Given the description of an element on the screen output the (x, y) to click on. 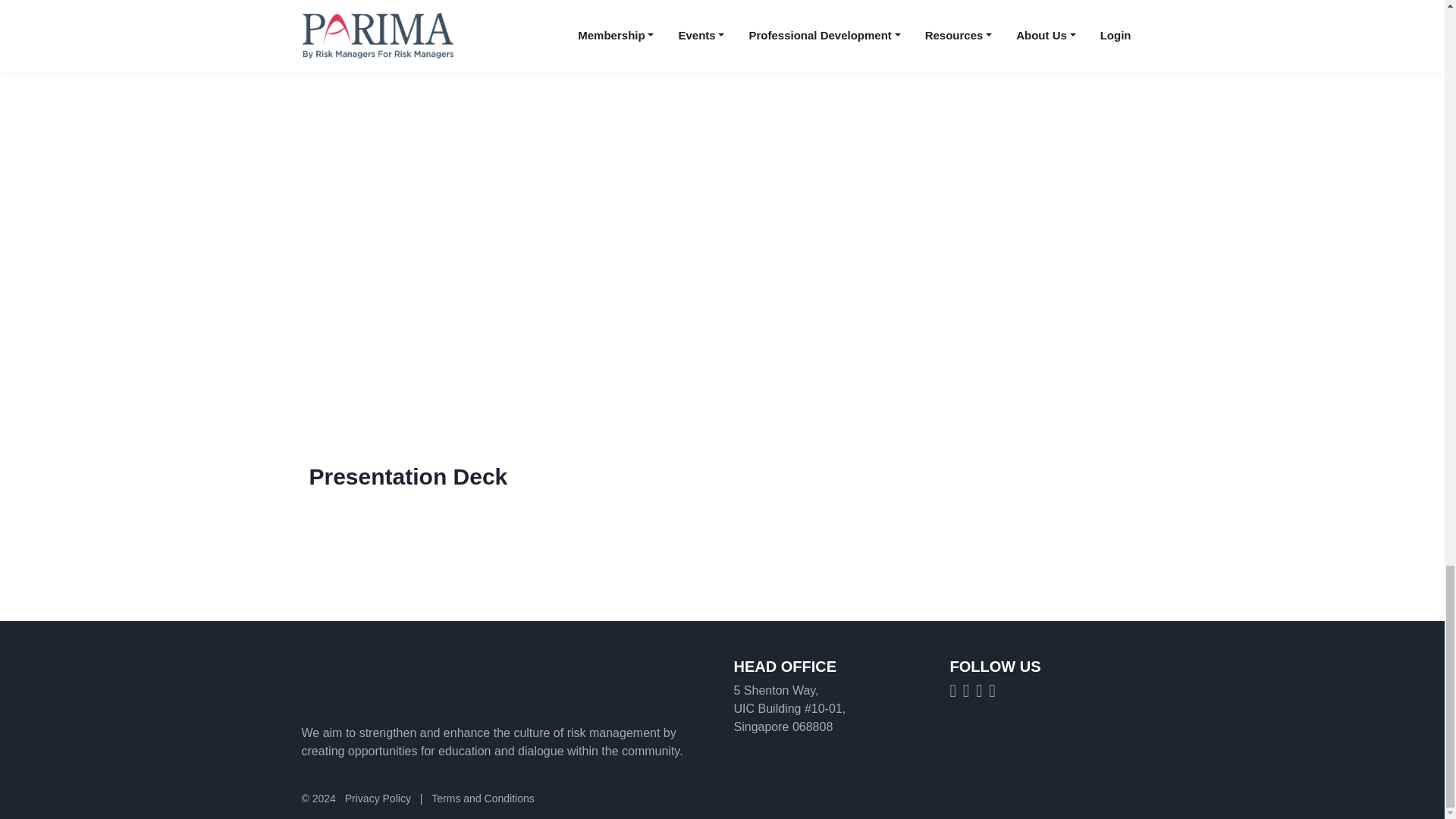
Terms and Conditions (482, 797)
Privacy Policy (377, 797)
